Given the description of an element on the screen output the (x, y) to click on. 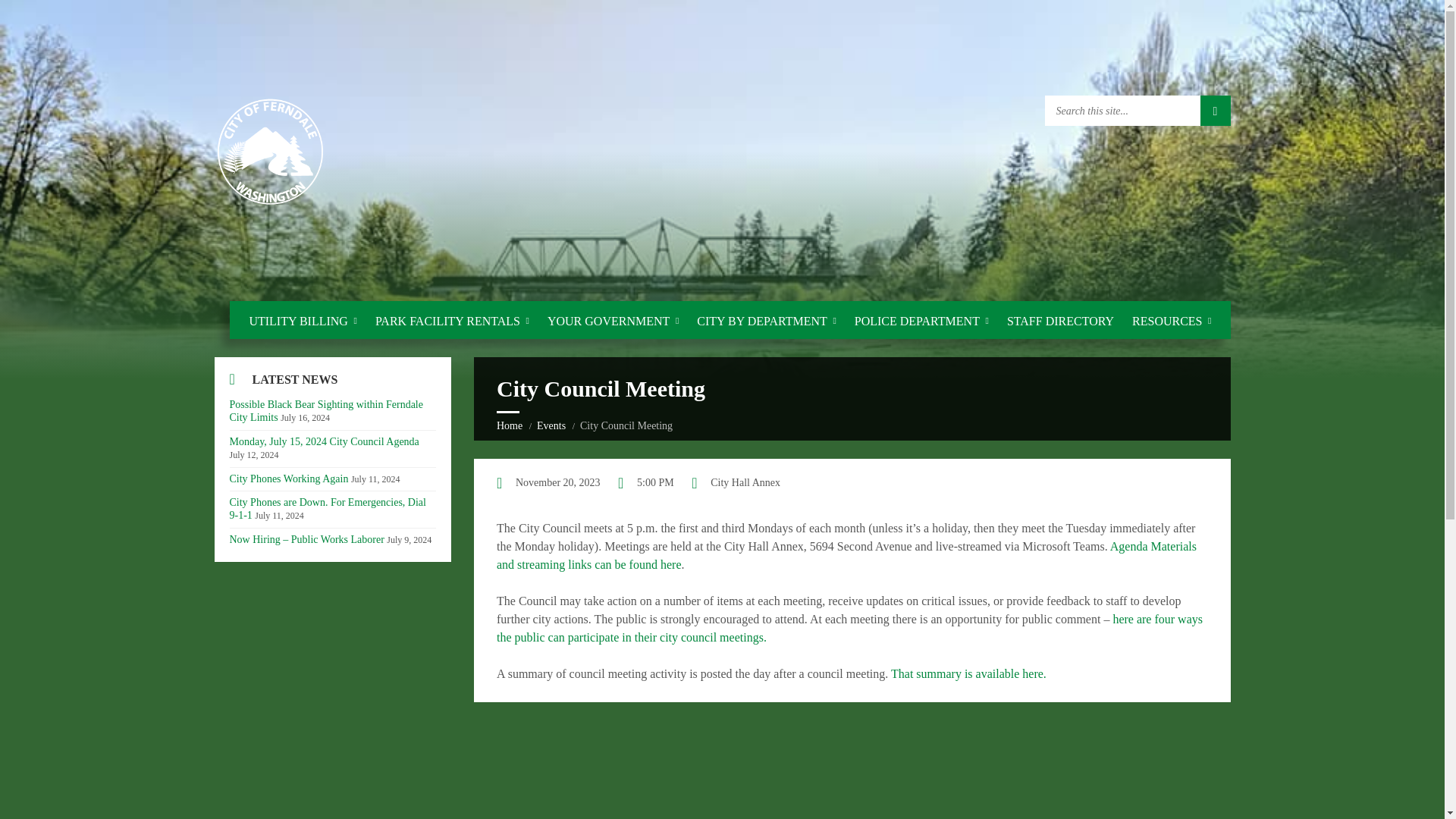
YOUR GOVERNMENT (612, 321)
UTILITY BILLING (302, 321)
PARK FACILITY RENTALS (452, 321)
CITY BY DEPARTMENT (766, 321)
